Given the description of an element on the screen output the (x, y) to click on. 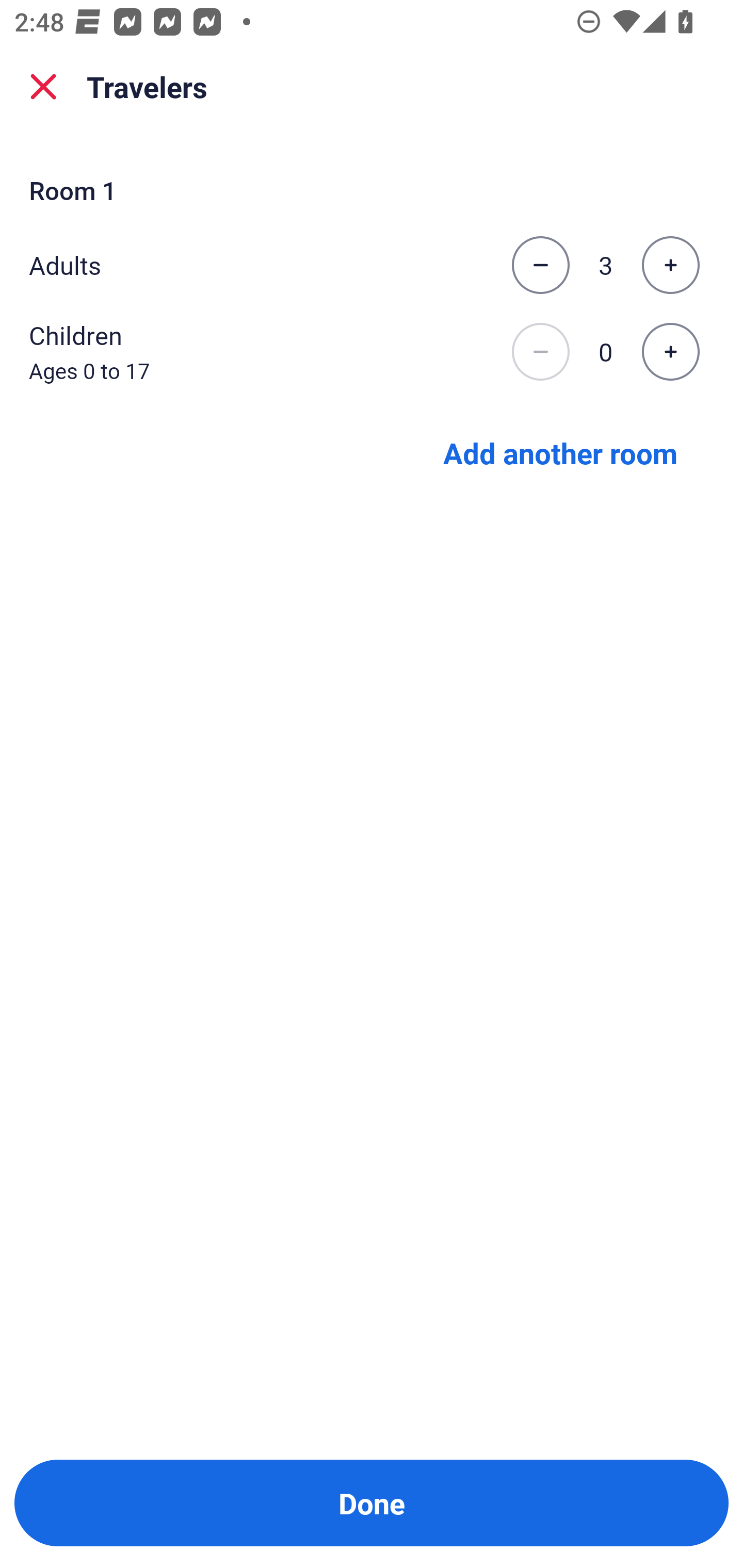
close (43, 86)
Decrease the number of adults (540, 264)
Increase the number of adults (670, 264)
Decrease the number of children (540, 351)
Increase the number of children (670, 351)
Add another room (560, 452)
Done (371, 1502)
